Given the description of an element on the screen output the (x, y) to click on. 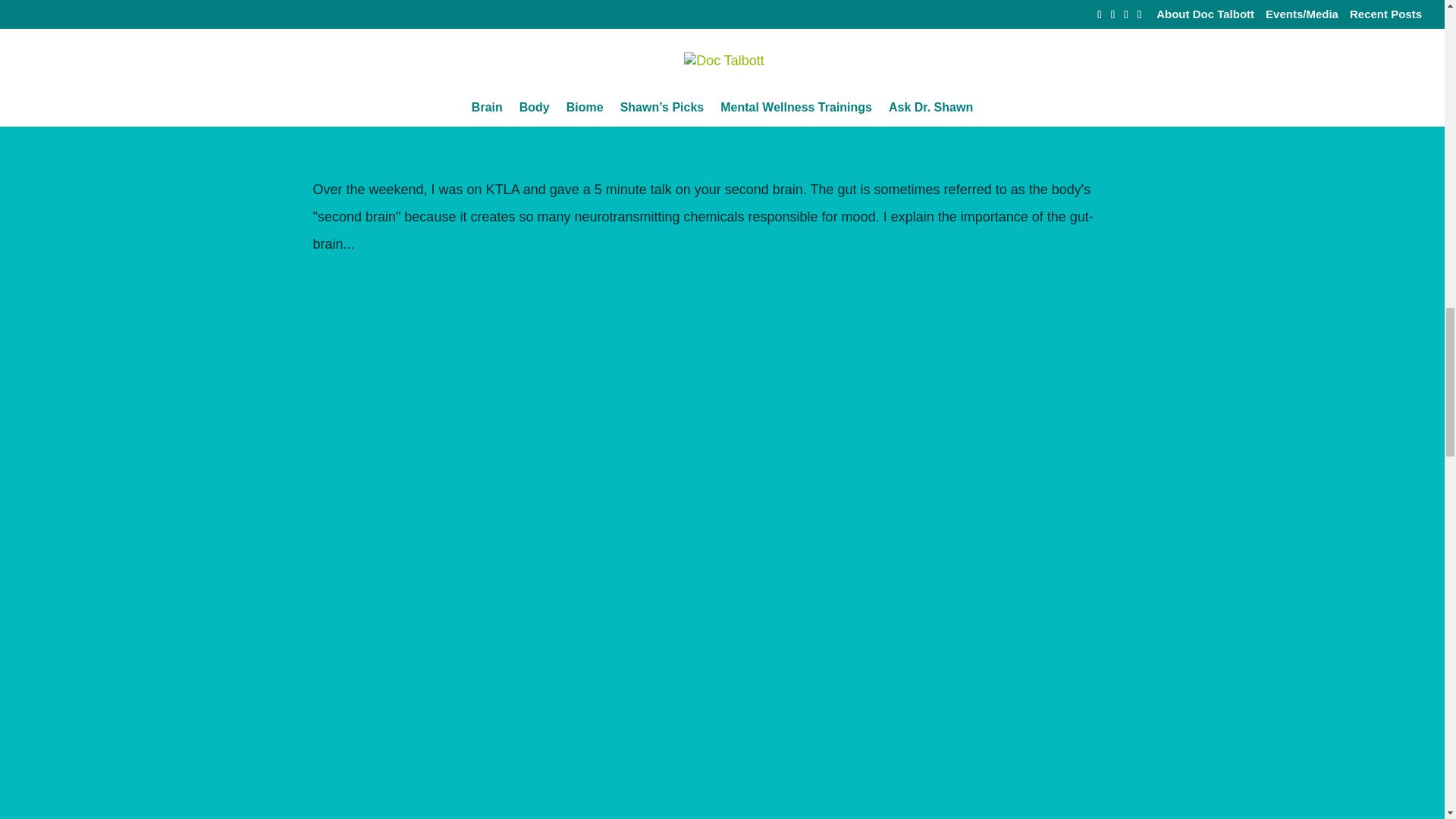
Media (500, 145)
Doc Talbott (353, 145)
Brain (469, 145)
Posts by Doc Talbott (353, 145)
